Given the description of an element on the screen output the (x, y) to click on. 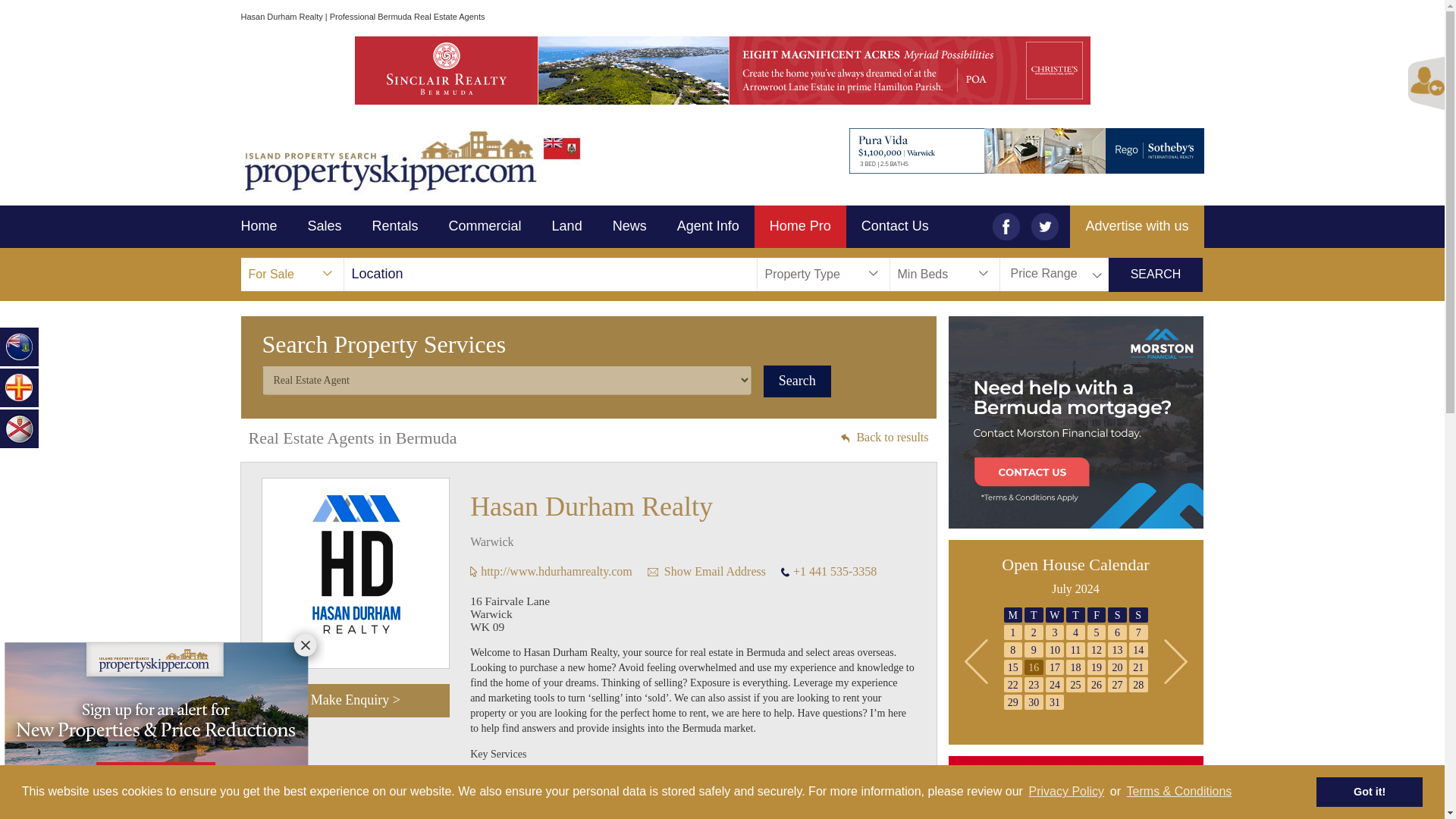
Commercial (485, 226)
British Virgin Islands Real Estate (19, 345)
Home (266, 226)
Got it! (1369, 791)
Search Property Services (799, 226)
Home Pro (799, 226)
For Sale (292, 274)
Sales (324, 226)
Contact Us (894, 226)
Christies Sinclair Realty (721, 70)
Privacy Policy (1066, 791)
Land (566, 226)
Advertise with us (1137, 226)
Jersey Property (19, 427)
